Given the description of an element on the screen output the (x, y) to click on. 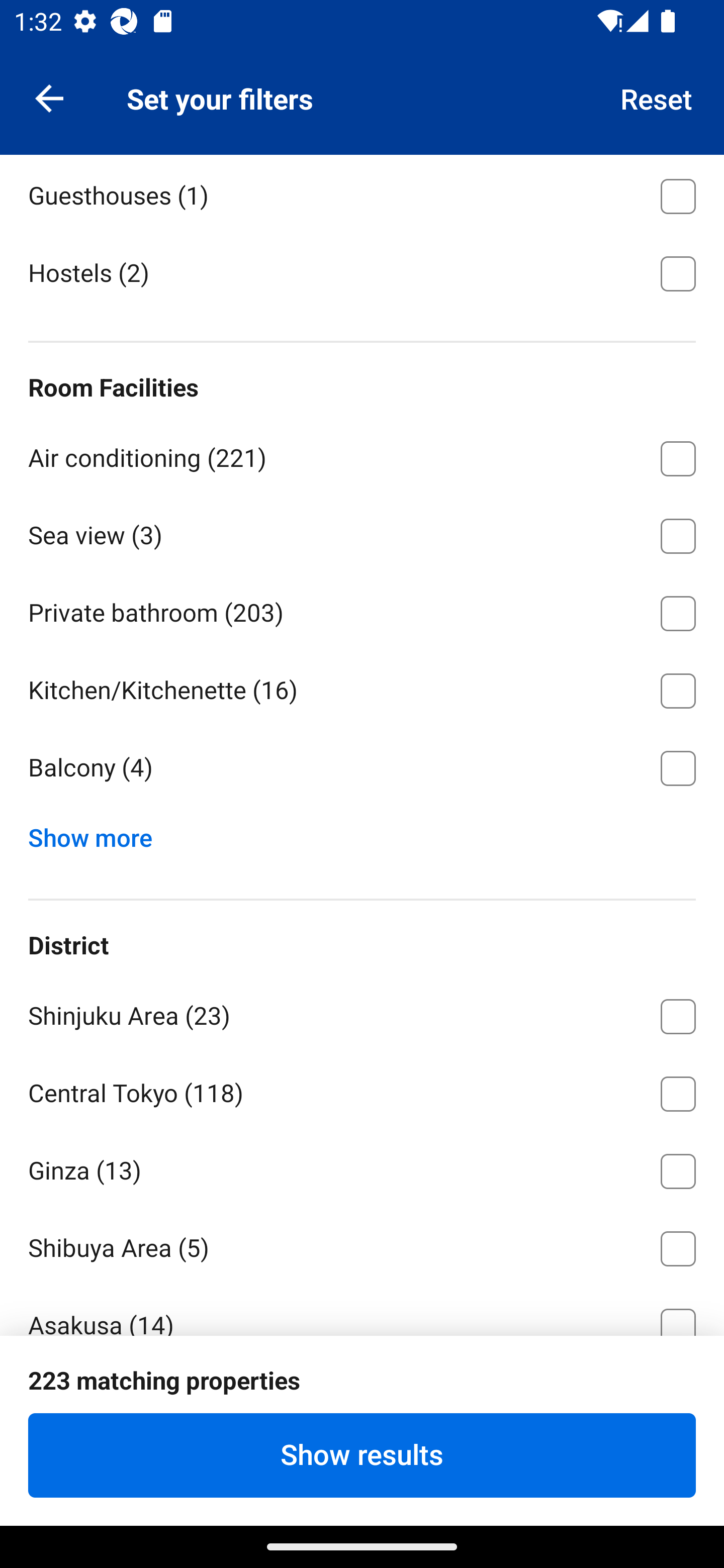
Navigate up (49, 97)
Reset (656, 97)
Ryokans ⁦(2) (361, 114)
Guesthouses ⁦(1) (361, 193)
Hostels ⁦(2) (361, 272)
Air conditioning ⁦(221) (361, 455)
Sea view ⁦(3) (361, 531)
Private bathroom ⁦(203) (361, 609)
Kitchen/Kitchenette ⁦(16) (361, 687)
Balcony ⁦(4) (361, 767)
Show more (97, 833)
Shinjuku Area ⁦(23) (361, 1012)
Central Tokyo ⁦(118) (361, 1090)
Ginza ⁦(13) (361, 1167)
Shibuya Area ⁦(5) (361, 1245)
Asakusa ⁦(14) (361, 1309)
Show results (361, 1454)
